Given the description of an element on the screen output the (x, y) to click on. 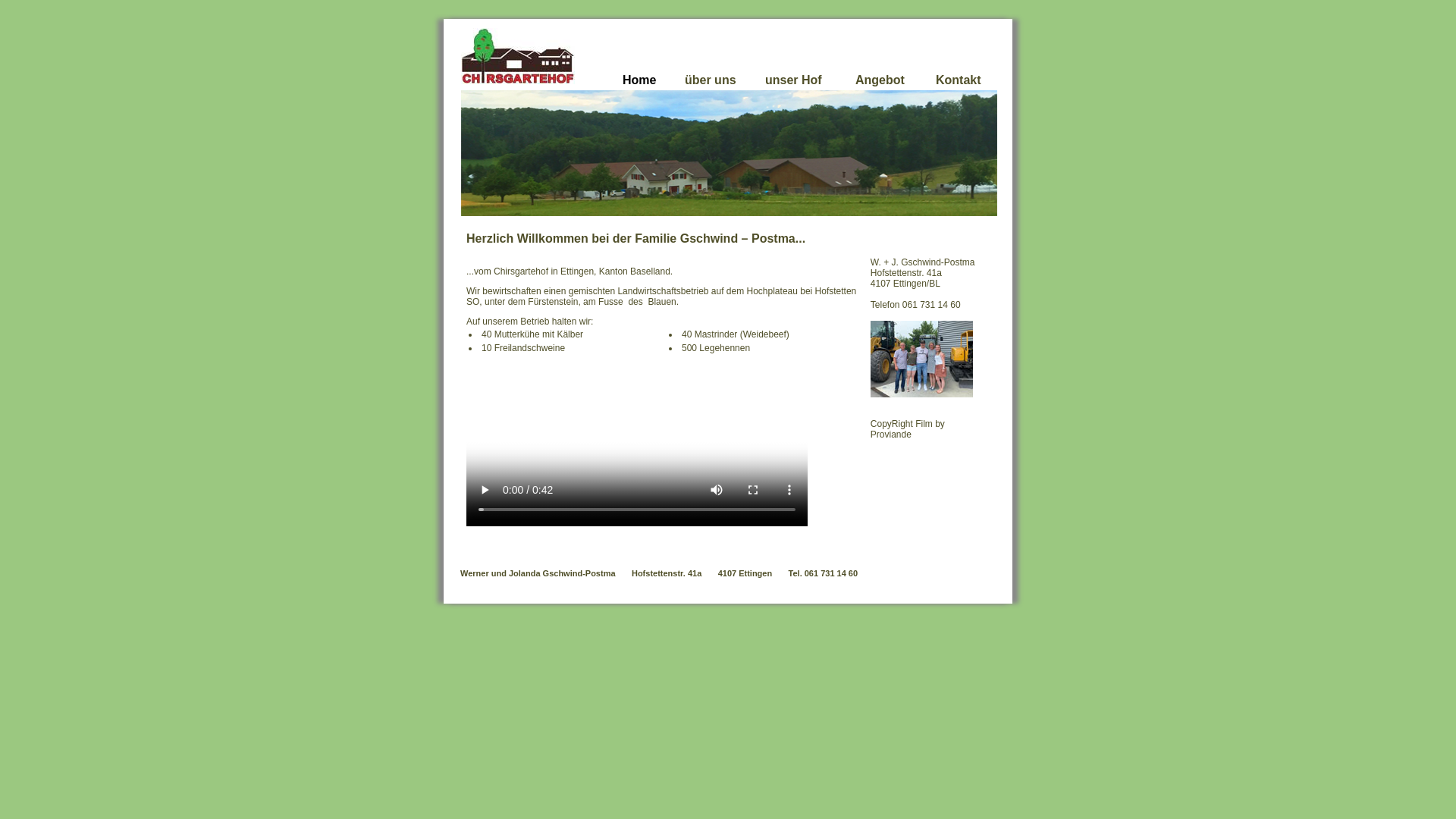
unser Hof Element type: text (793, 79)
Kontakt Element type: text (958, 86)
Home Element type: text (638, 79)
Angebot Element type: text (879, 79)
